Given the description of an element on the screen output the (x, y) to click on. 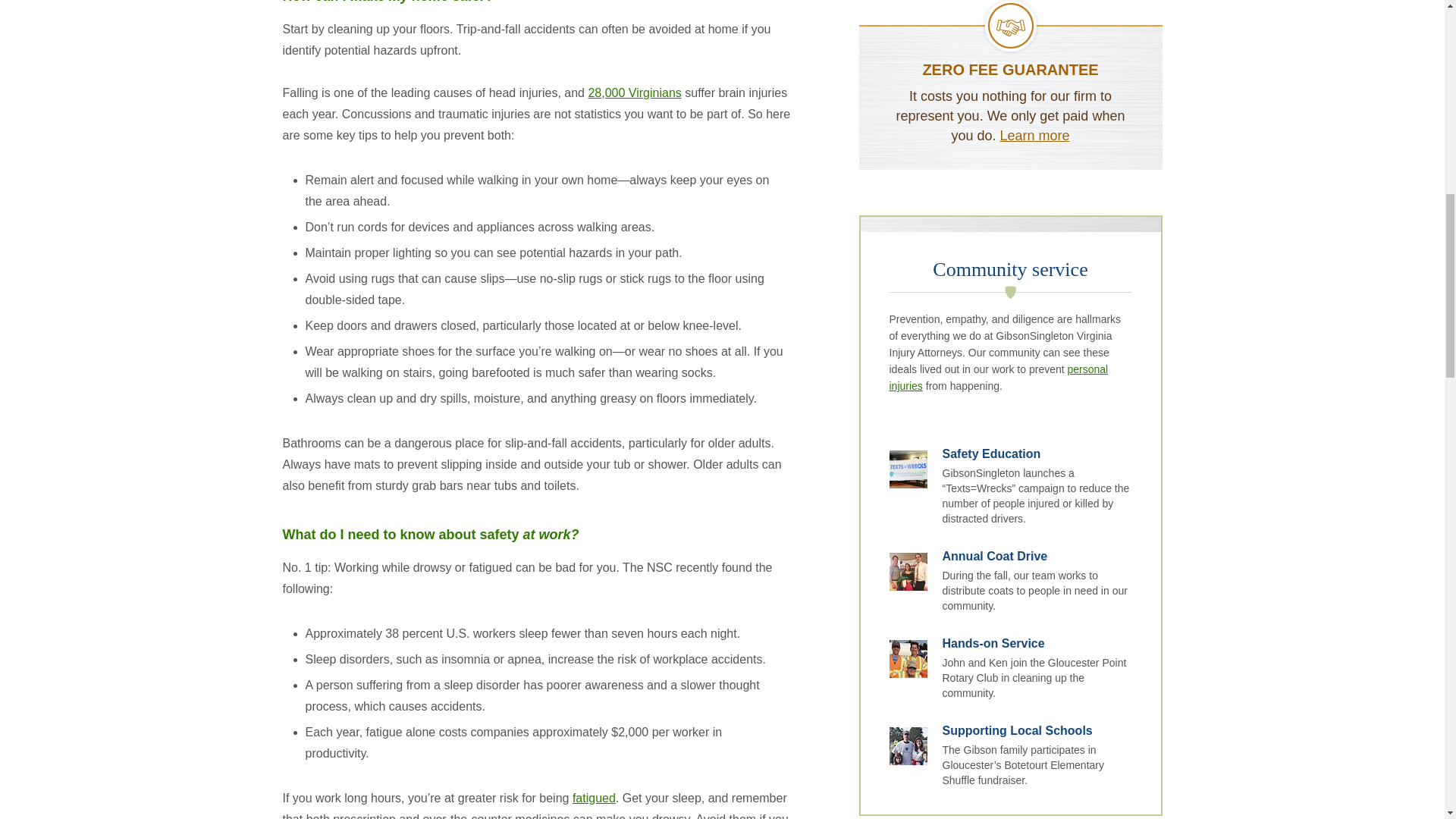
28,000 Virginians (634, 92)
fatigued (593, 797)
